Given the description of an element on the screen output the (x, y) to click on. 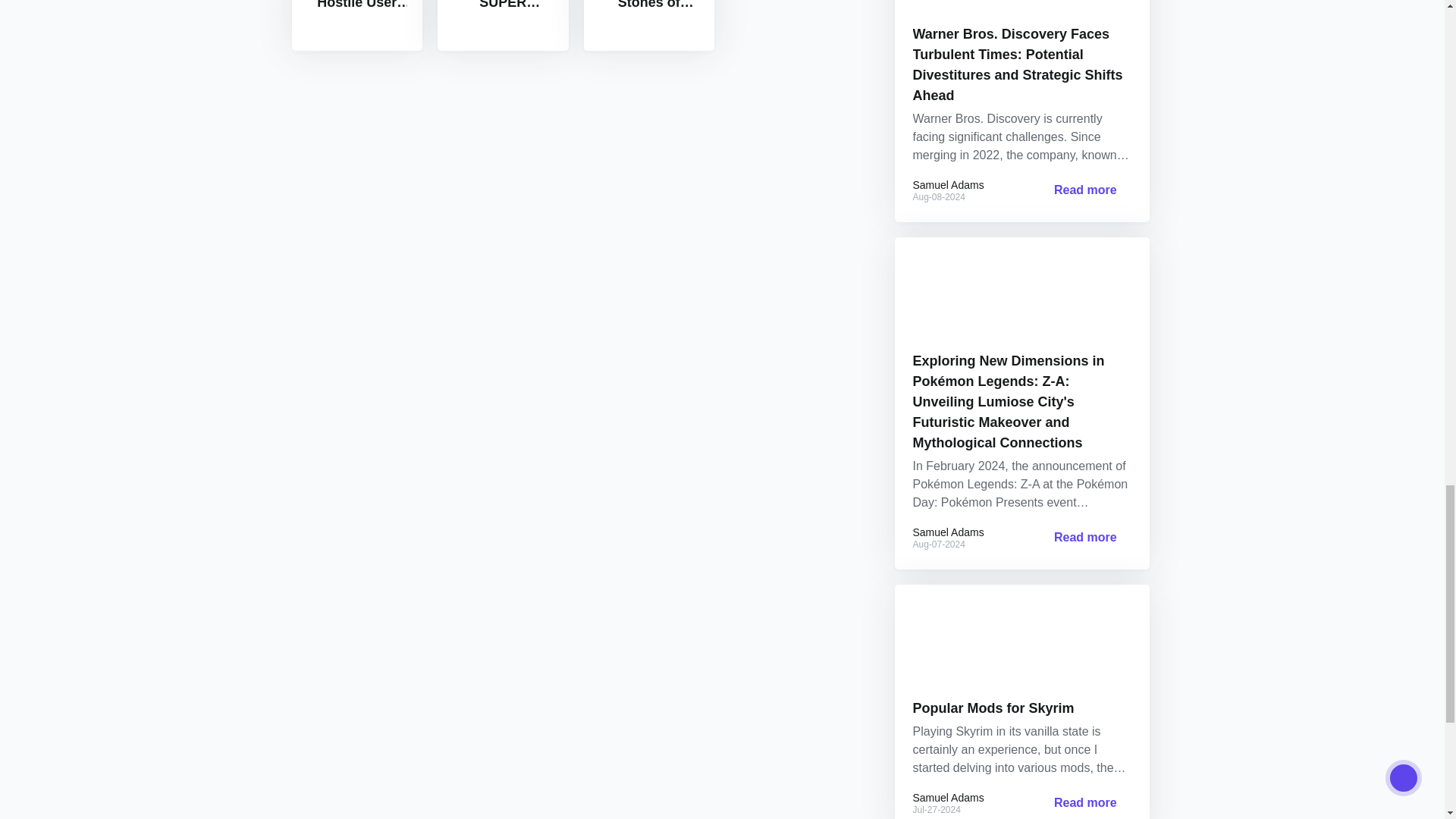
Hostile User Interface (356, 25)
User rating 4.2 (500, 23)
User rating 4.2 (354, 23)
Currency Converted (502, 5)
Currency Converted (356, 5)
User rating 4.5 (645, 23)
SUPER ASTEROIDS (503, 25)
Currency Converted (649, 5)
